Given the description of an element on the screen output the (x, y) to click on. 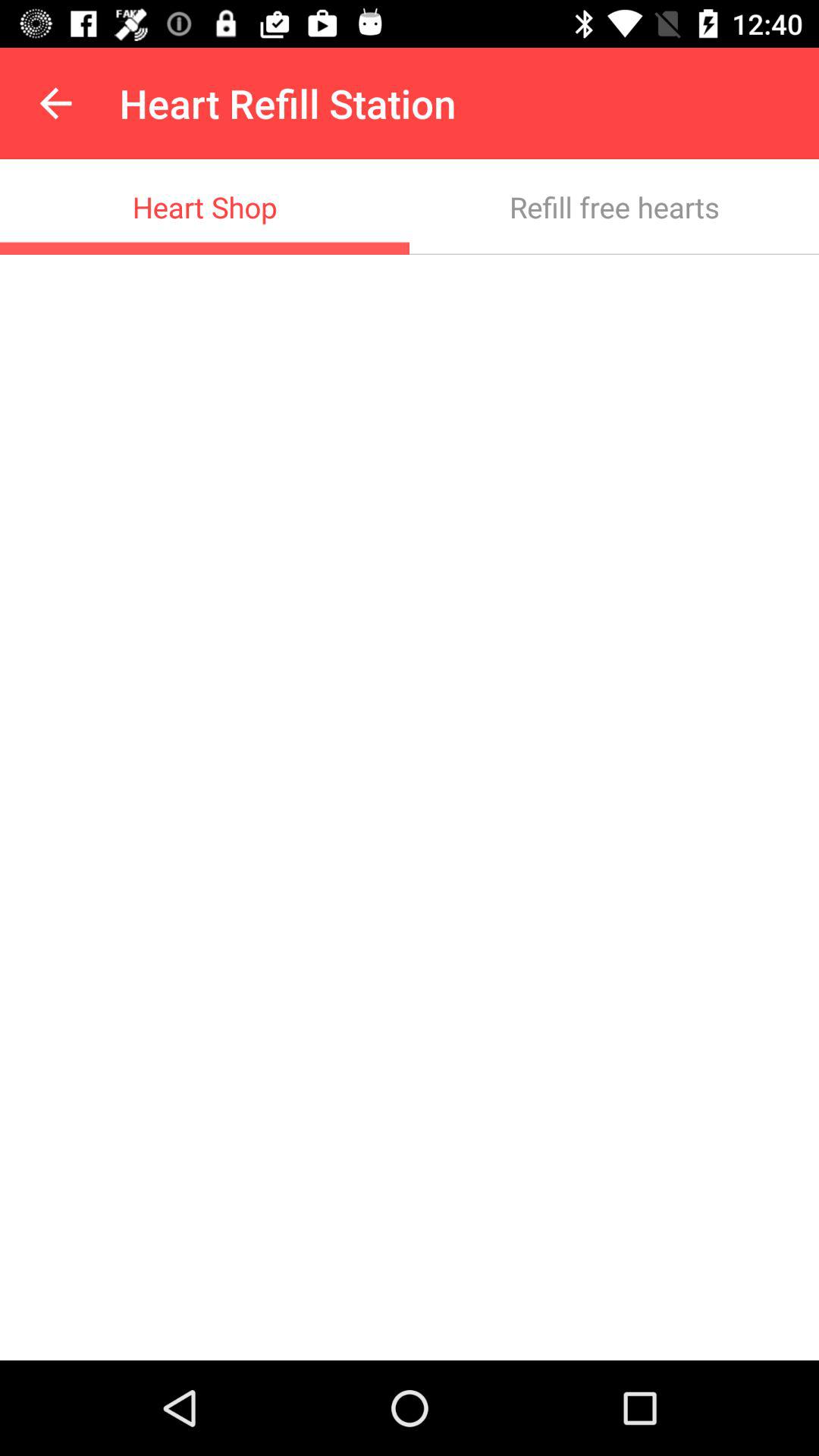
select the heart shop icon (204, 206)
